Given the description of an element on the screen output the (x, y) to click on. 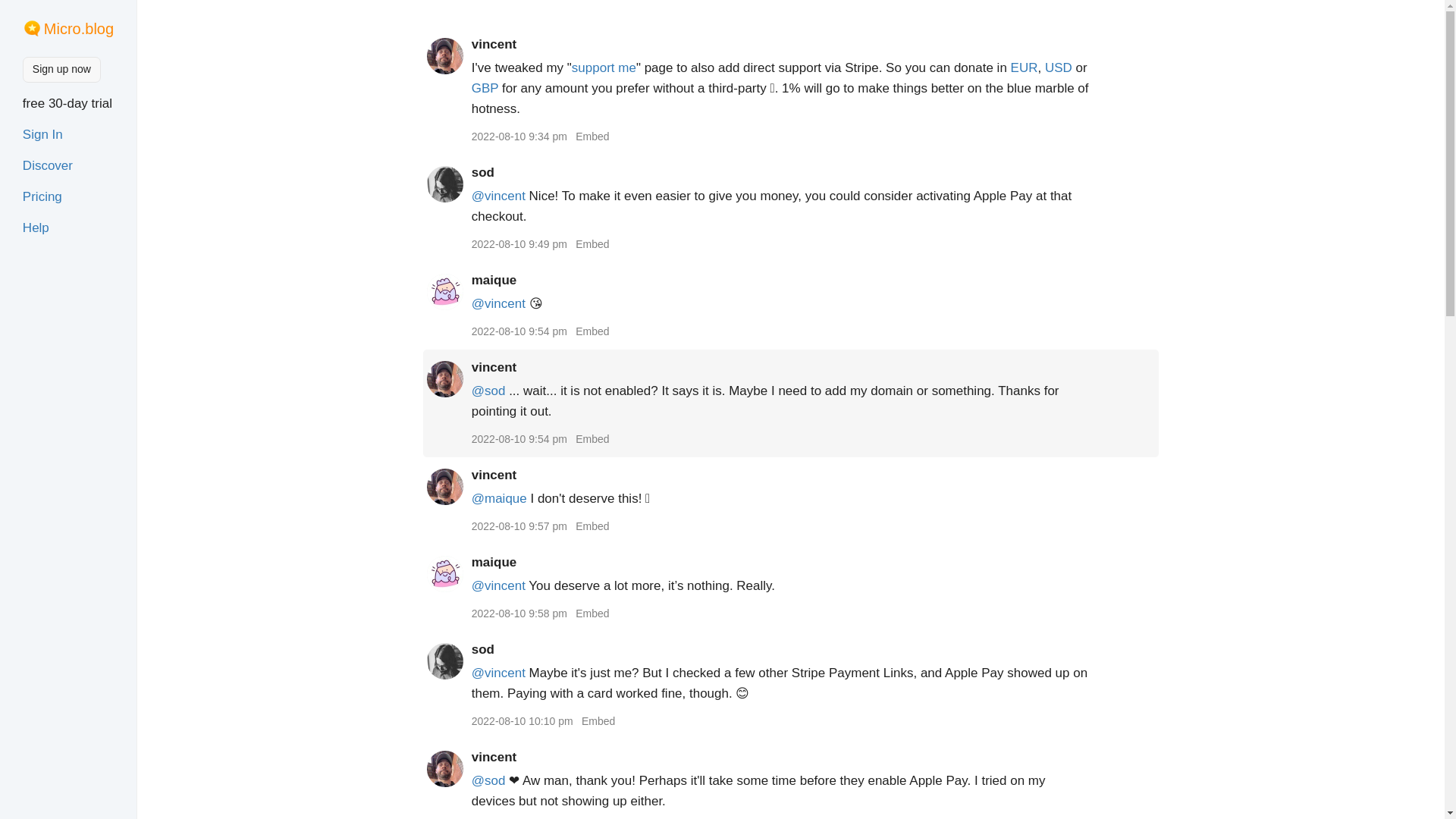
GBP (485, 88)
EUR (1024, 67)
Pricing (42, 196)
Sign up now (61, 69)
Help (36, 227)
Embed (591, 331)
Micro.blog (78, 28)
2022-08-10 9:49 pm (519, 244)
2022-08-10 9:54 pm (519, 331)
sod (483, 172)
